Given the description of an element on the screen output the (x, y) to click on. 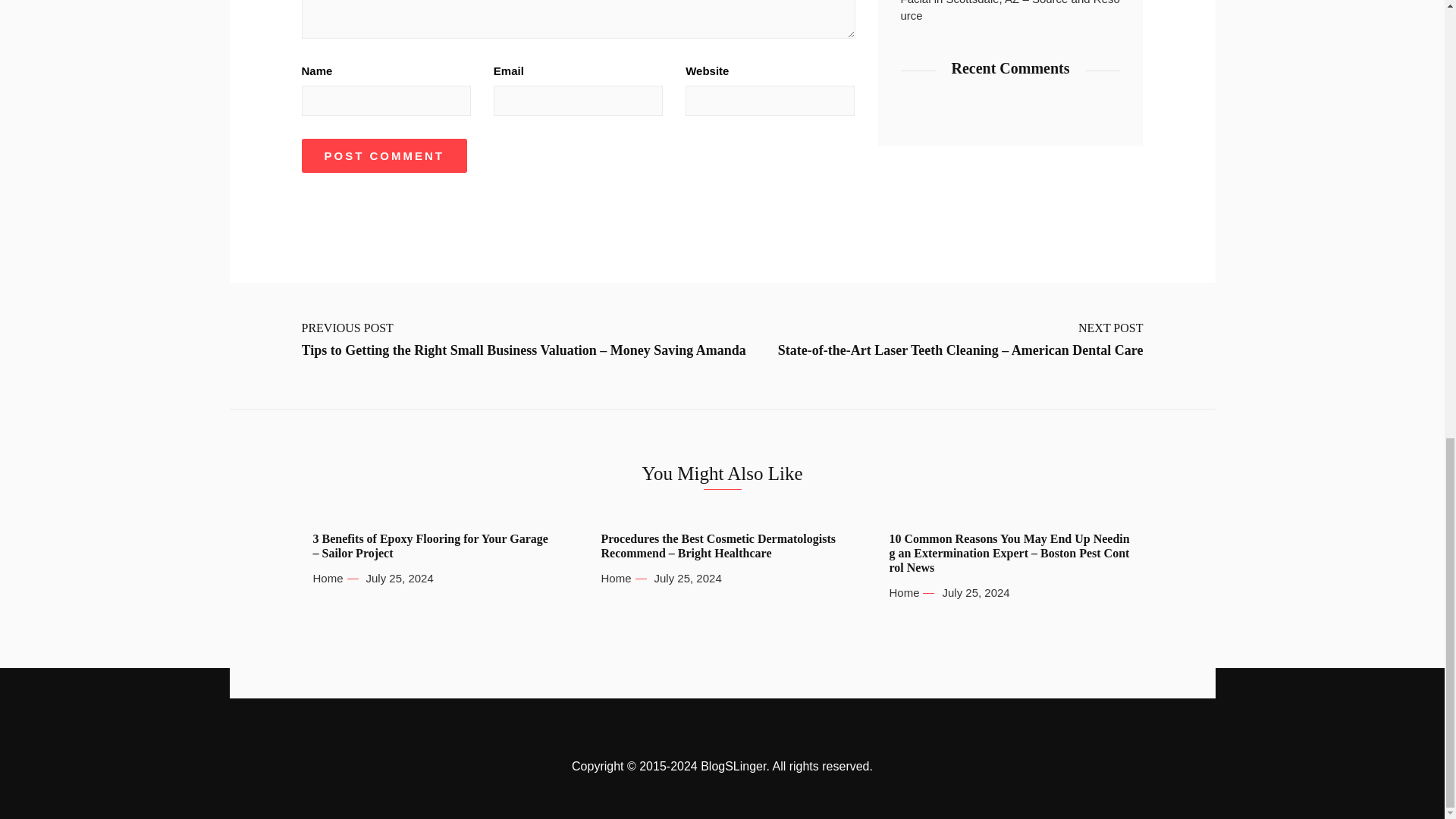
Home (903, 592)
Post Comment (384, 155)
July 25, 2024 (975, 592)
Home (614, 578)
July 25, 2024 (399, 578)
Post Comment (384, 155)
Home (327, 578)
July 25, 2024 (686, 578)
